Given the description of an element on the screen output the (x, y) to click on. 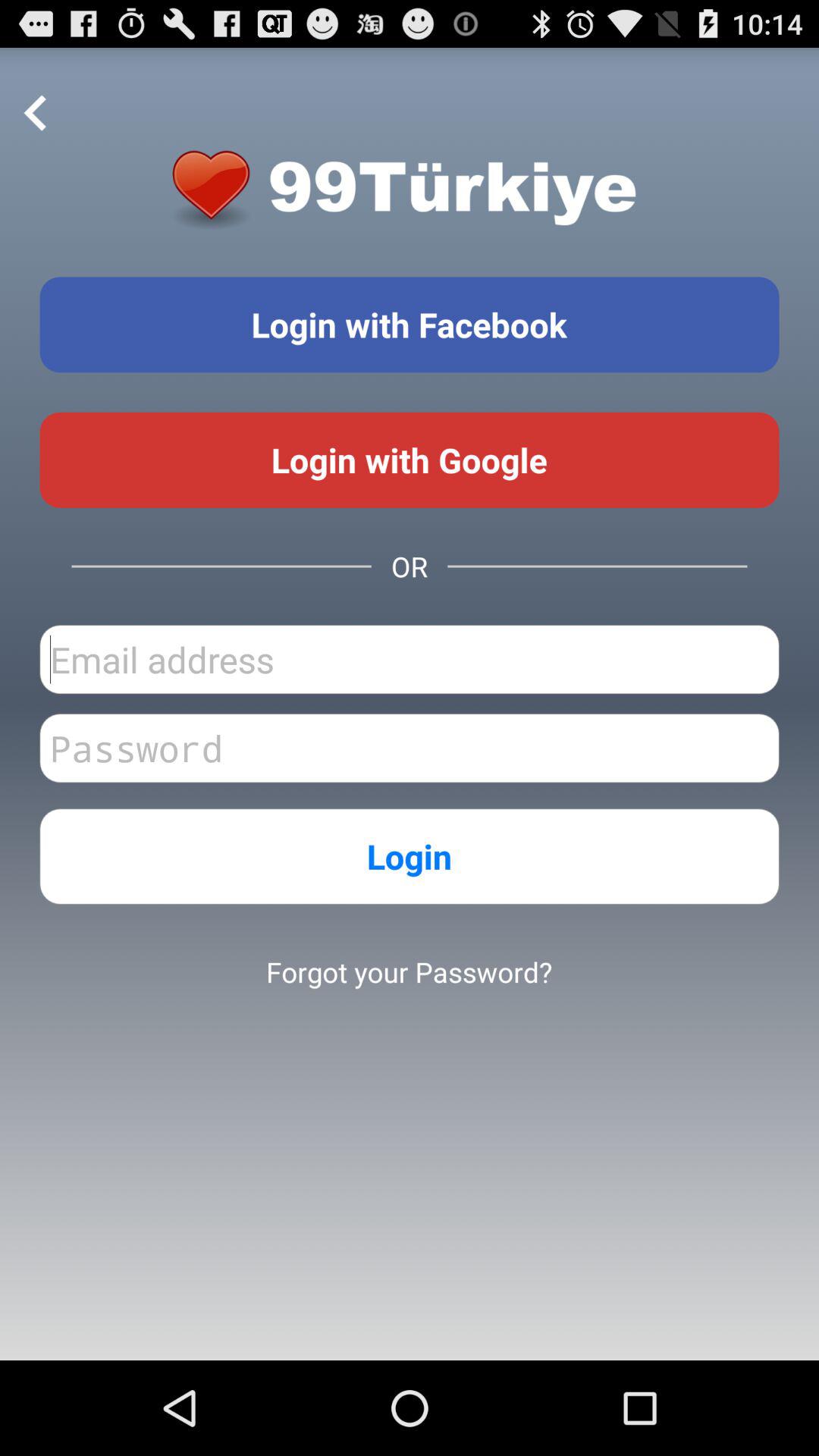
digit password (409, 747)
